Given the description of an element on the screen output the (x, y) to click on. 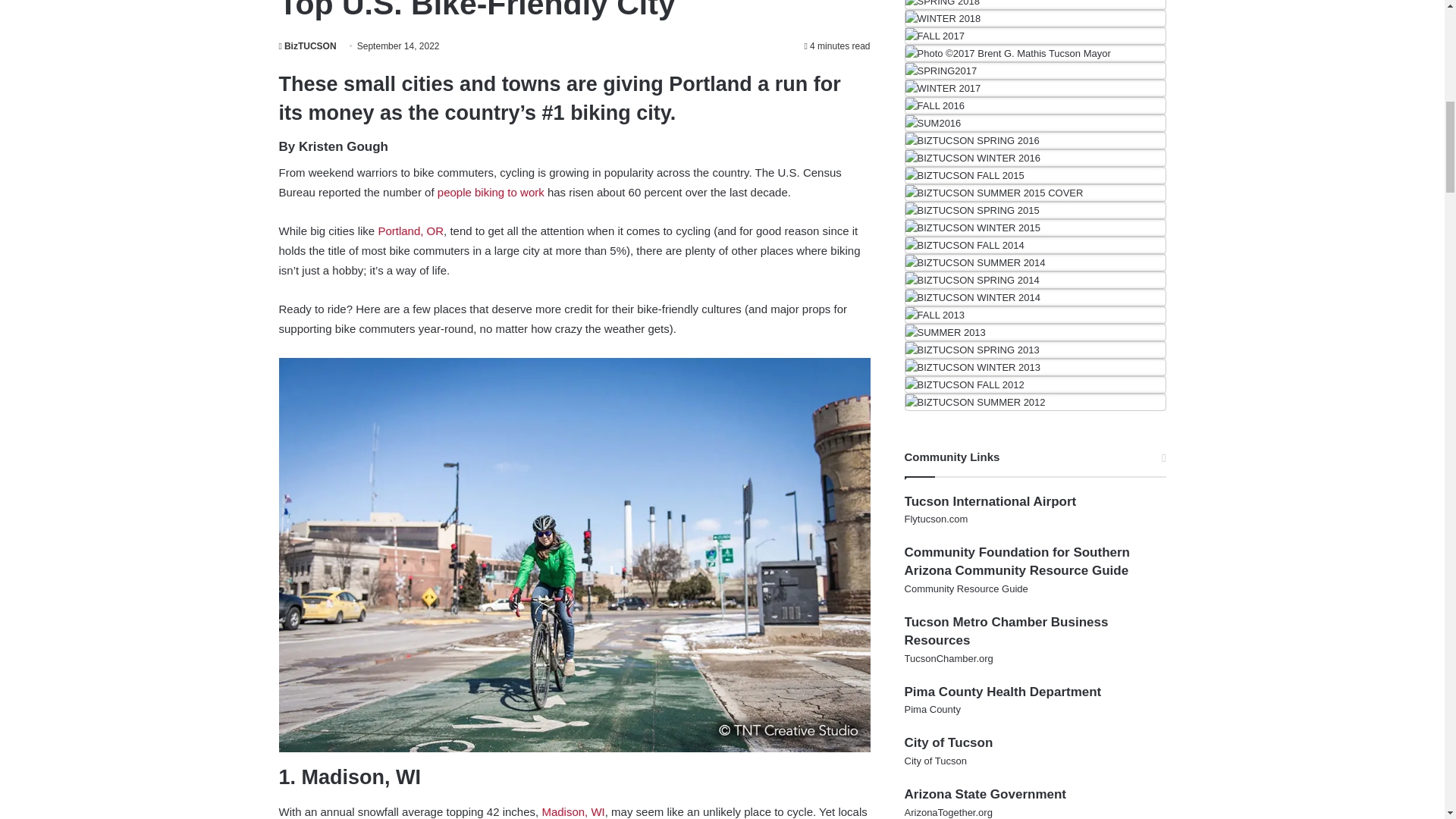
BizTUCSON (307, 45)
